Given the description of an element on the screen output the (x, y) to click on. 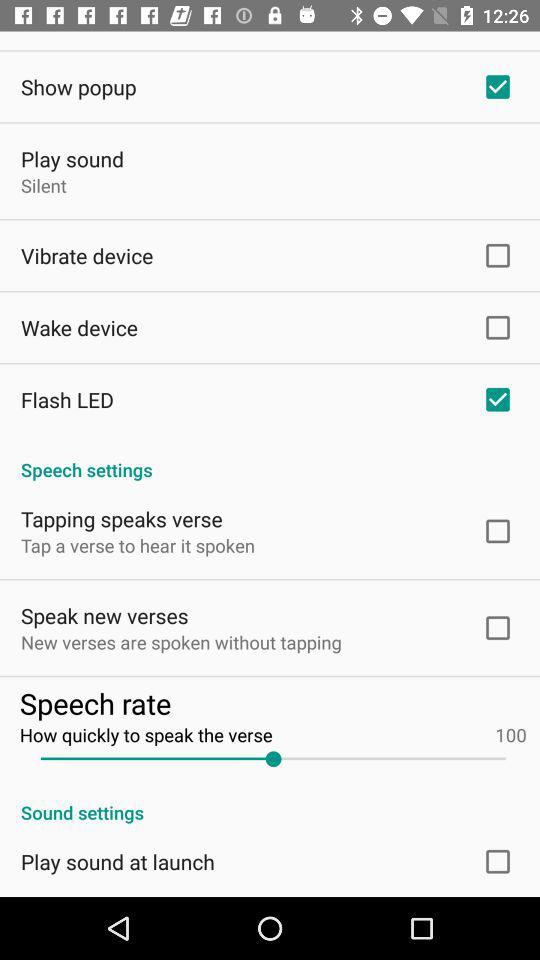
scroll to speech rate app (272, 702)
